Given the description of an element on the screen output the (x, y) to click on. 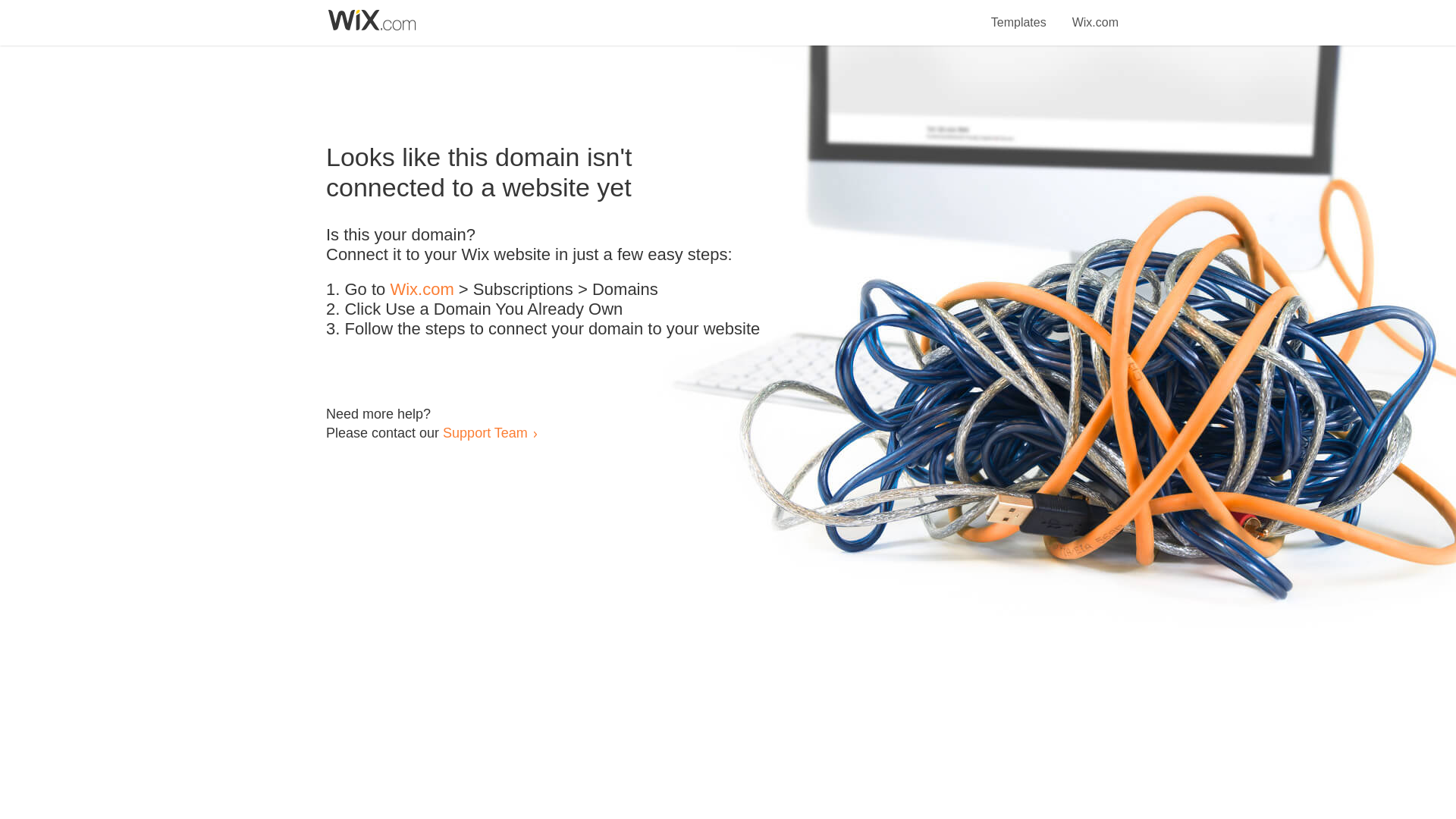
Wix.com (421, 289)
Support Team (484, 432)
Wix.com (1095, 14)
Templates (1018, 14)
